Given the description of an element on the screen output the (x, y) to click on. 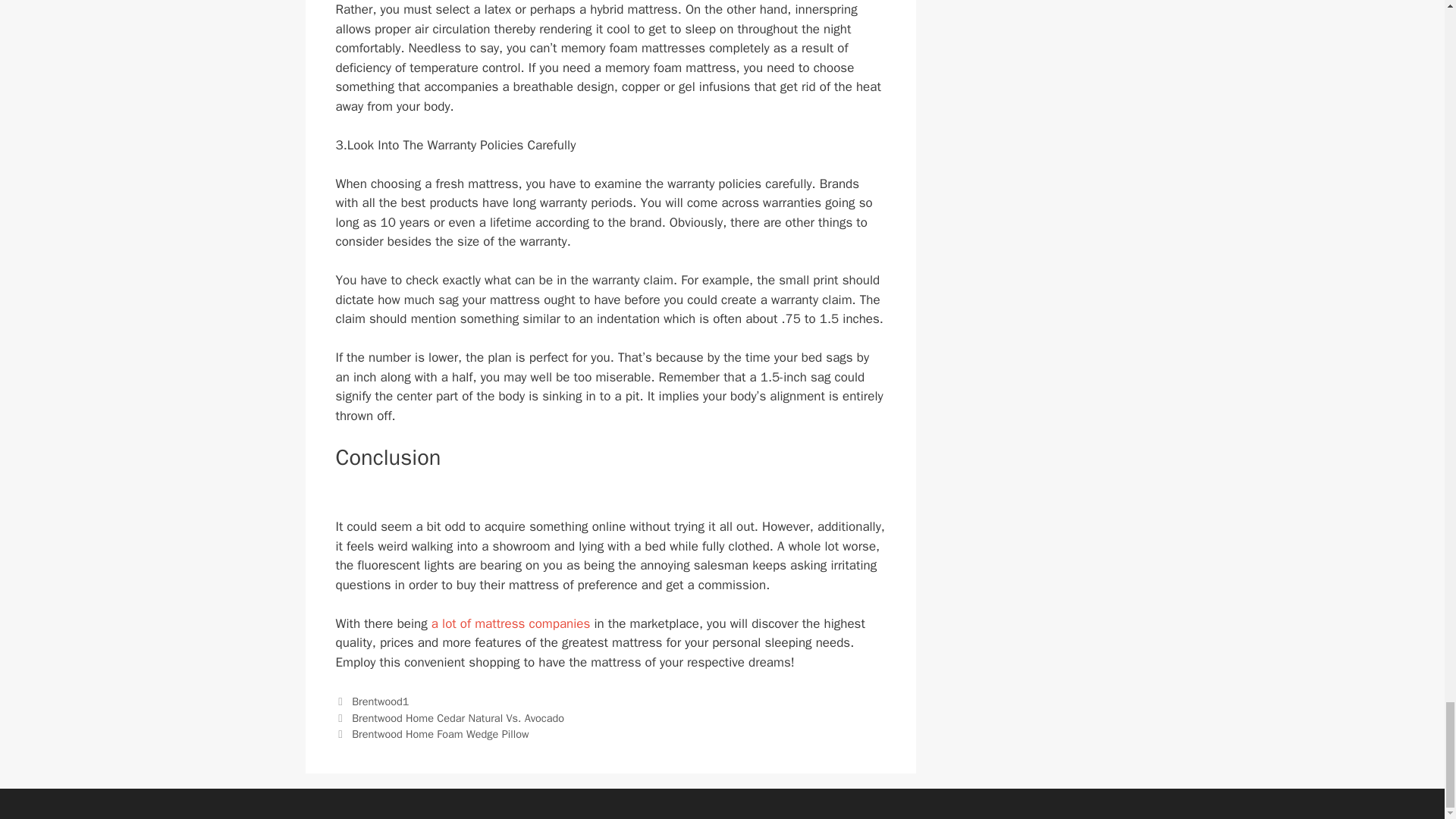
a lot of mattress companies (509, 623)
Brentwood1 (380, 701)
Brentwood Home Cedar Natural Vs. Avocado (458, 717)
Brentwood Home Foam Wedge Pillow (440, 734)
